Given the description of an element on the screen output the (x, y) to click on. 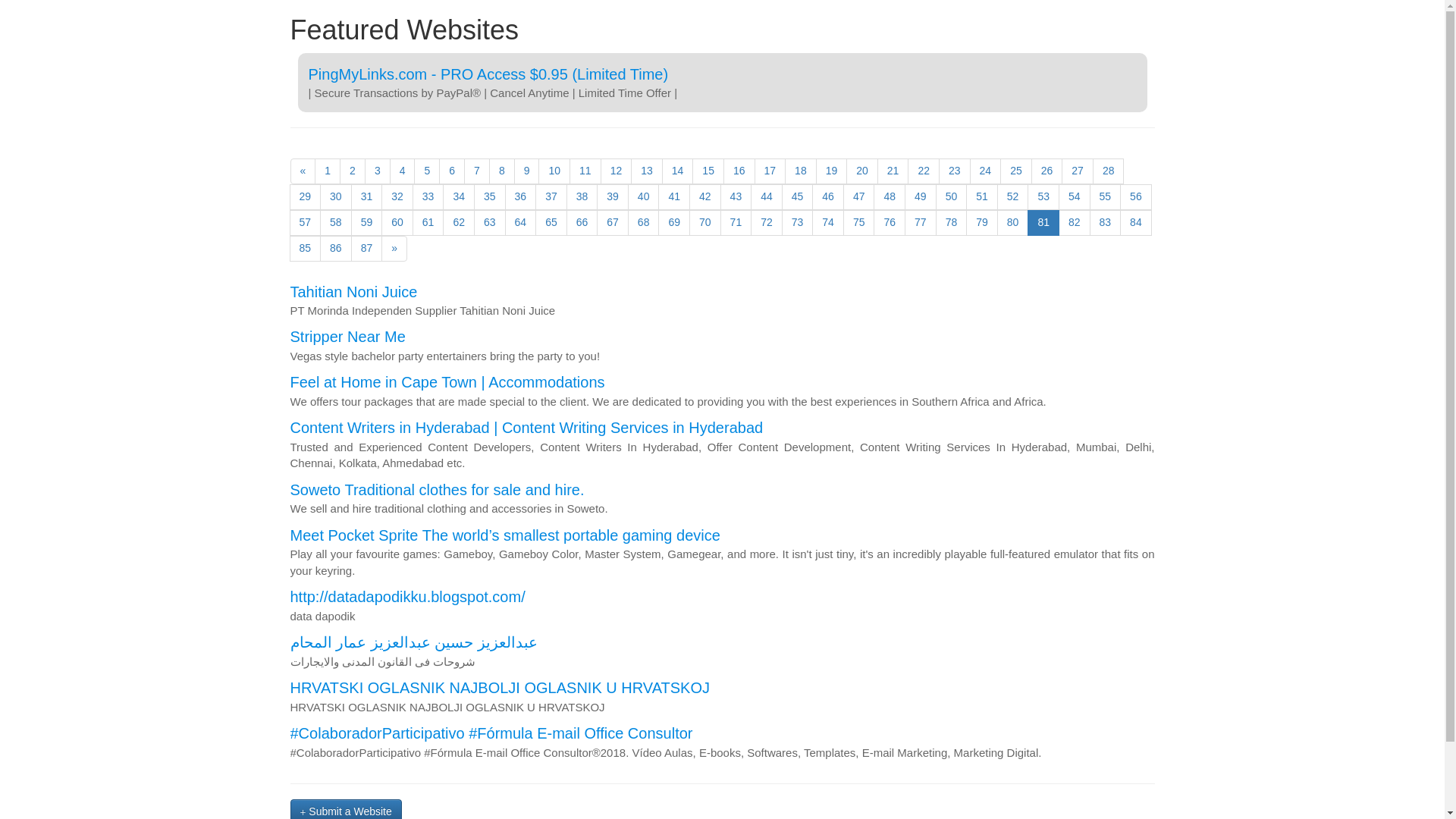
27 (1077, 171)
19 (831, 171)
30 (336, 196)
24 (985, 171)
17 (770, 171)
3 (377, 171)
18 (800, 171)
23 (955, 171)
12 (615, 171)
20 (861, 171)
